Given the description of an element on the screen output the (x, y) to click on. 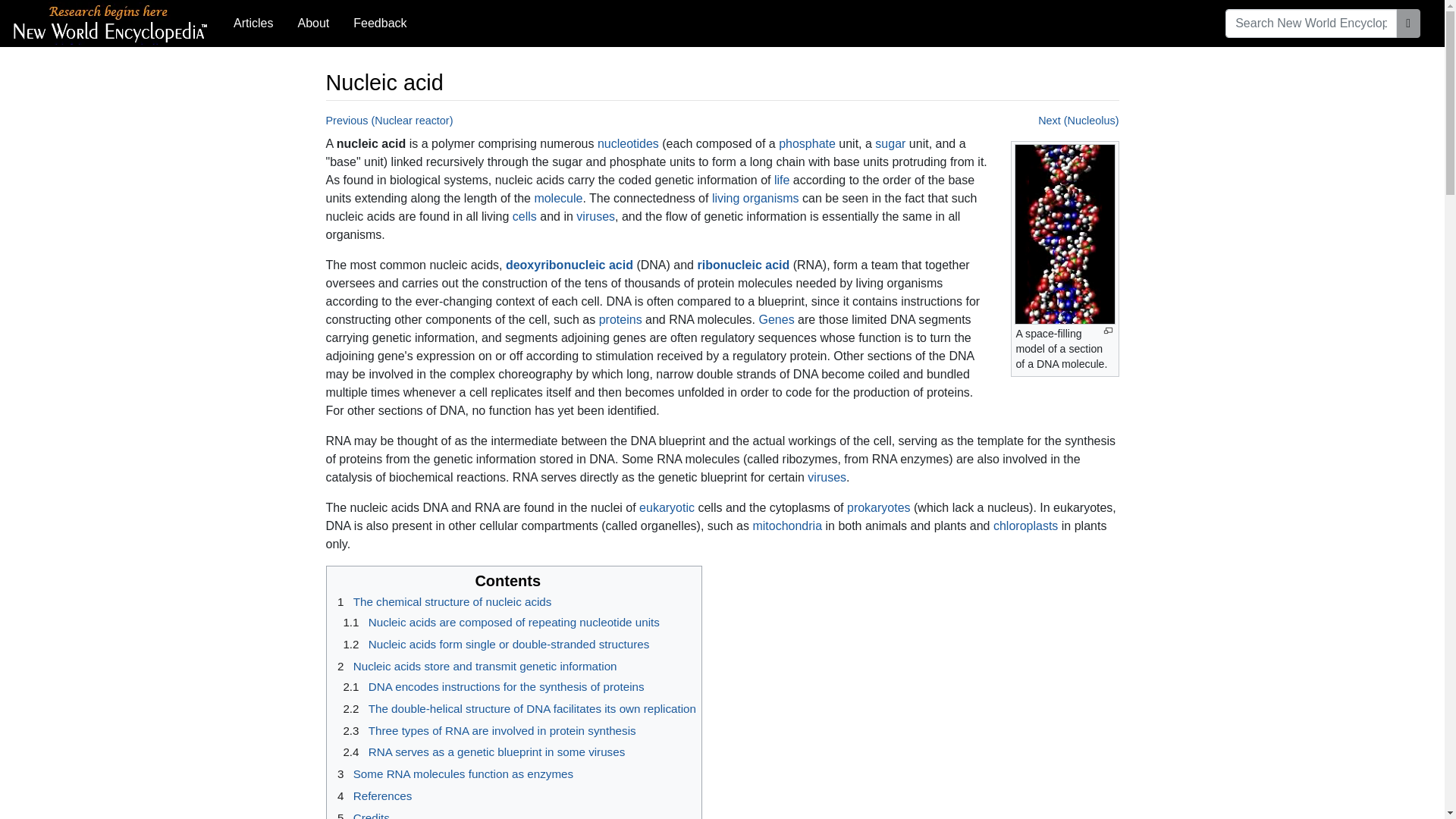
Sugar (890, 143)
Virus (826, 477)
Nuclear reactor (389, 120)
Phosphate (806, 143)
nucleotides (627, 143)
proteins (620, 318)
2.3 Three types of RNA are involved in protein synthesis (486, 730)
viruses (595, 215)
phosphate (806, 143)
Enlarge (1107, 330)
DNA (569, 264)
Nucleotide (627, 143)
RNA (743, 264)
Life (755, 197)
Virus (595, 215)
